Given the description of an element on the screen output the (x, y) to click on. 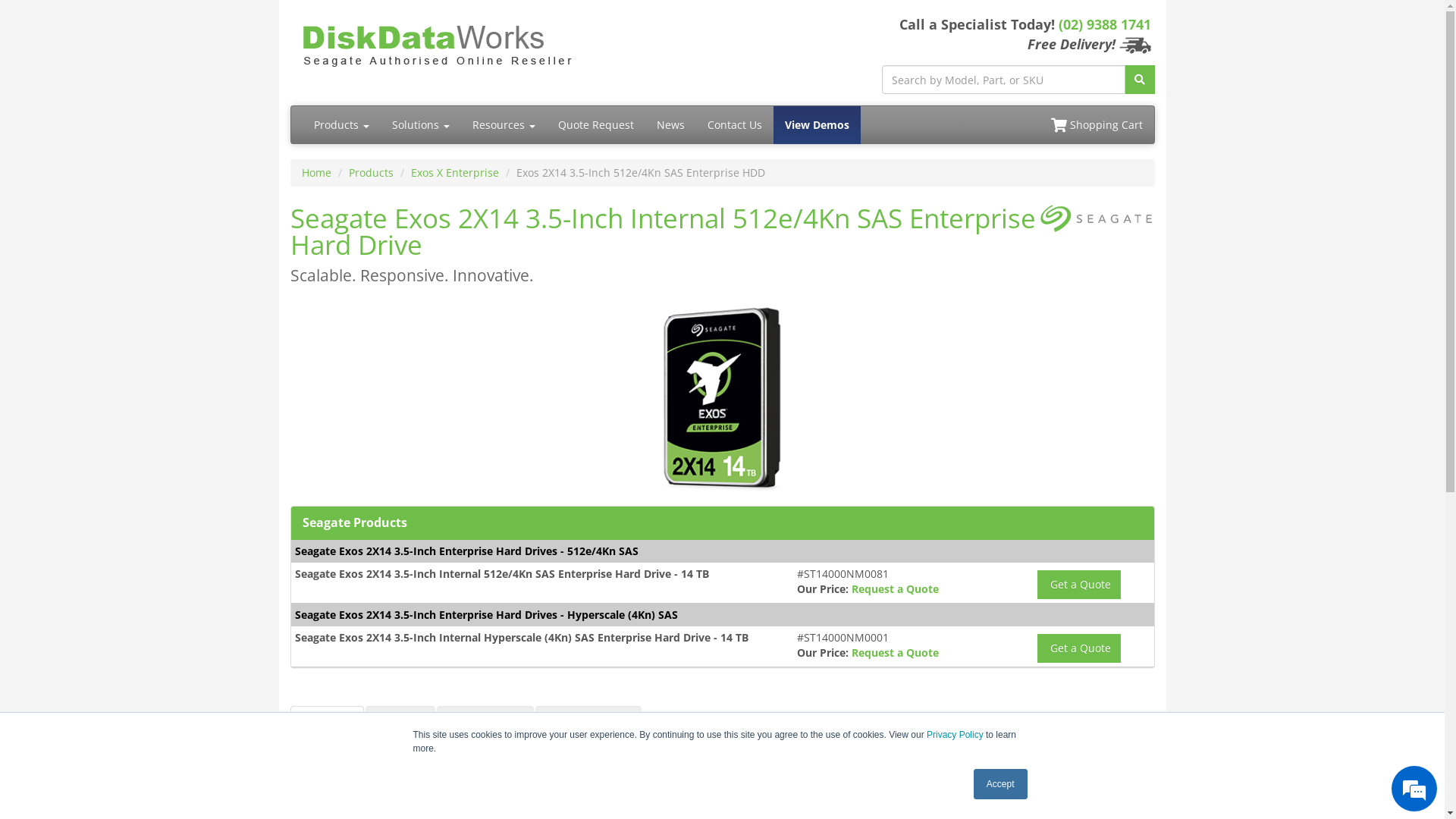
Privacy Policy Element type: text (954, 734)
Specifications Element type: text (484, 721)
Home Element type: text (316, 172)
View Demos Element type: text (816, 125)
News Element type: text (669, 125)
Quote Request Element type: text (595, 125)
Contact Us Element type: text (734, 125)
Request a Quote Element type: text (894, 652)
Products Element type: text (370, 172)
Exos X Enterprise Element type: text (454, 172)
Products Element type: text (340, 125)
Accept Element type: text (1000, 783)
Features Element type: text (400, 721)
Documentation Element type: text (588, 721)
(02) 9388 1741 Element type: text (1104, 24)
Overview Element type: text (326, 721)
Request a Quote Element type: text (894, 588)
Get a Quote Element type: text (1078, 647)
Shopping Cart Element type: text (1095, 125)
Get a Quote Element type: text (1078, 584)
Solutions Element type: text (420, 125)
Resources Element type: text (503, 125)
